Given the description of an element on the screen output the (x, y) to click on. 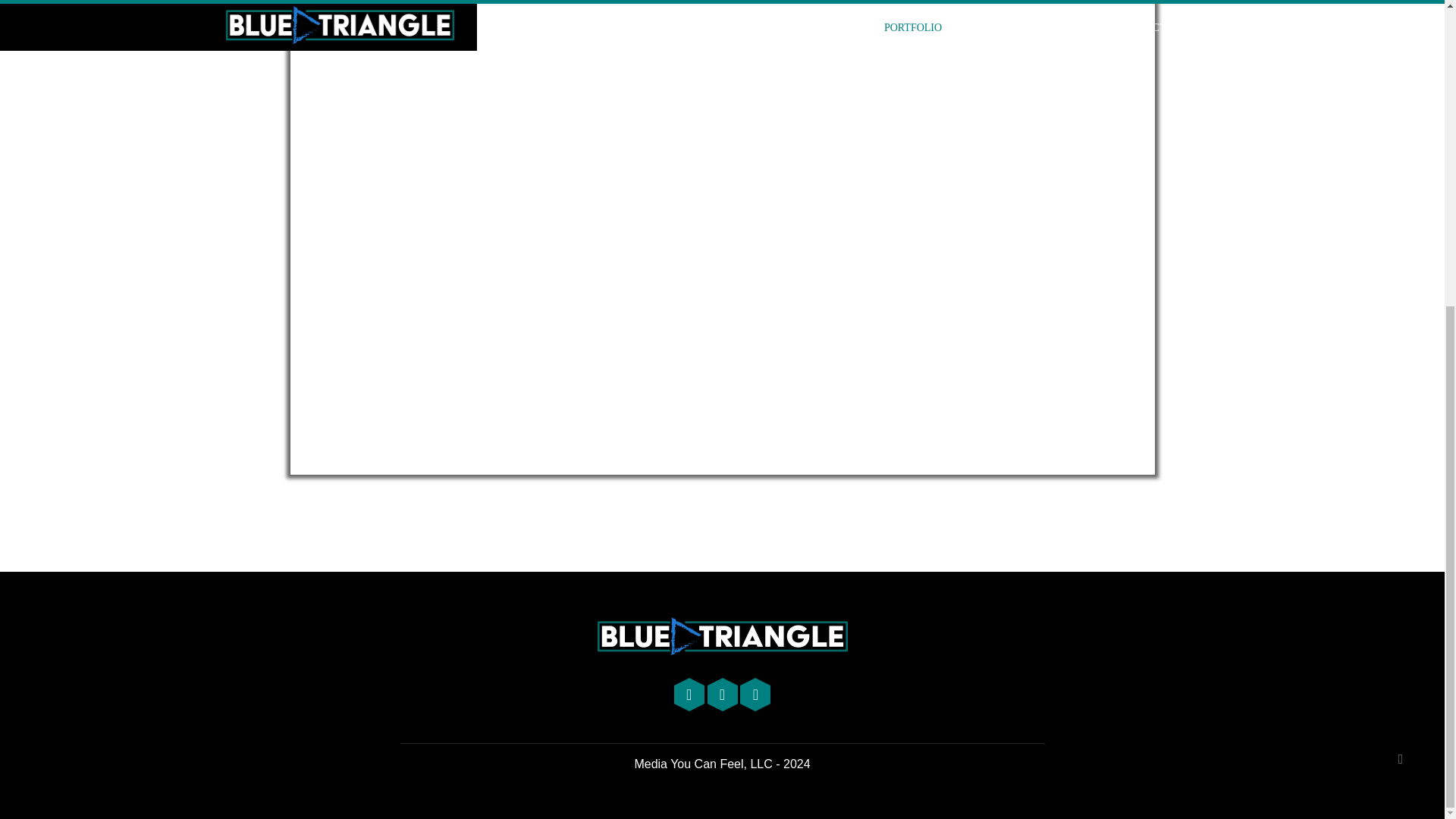
YouTube (690, 695)
Facebook (754, 695)
Back to Top (1400, 277)
Twitter (722, 695)
